Given the description of an element on the screen output the (x, y) to click on. 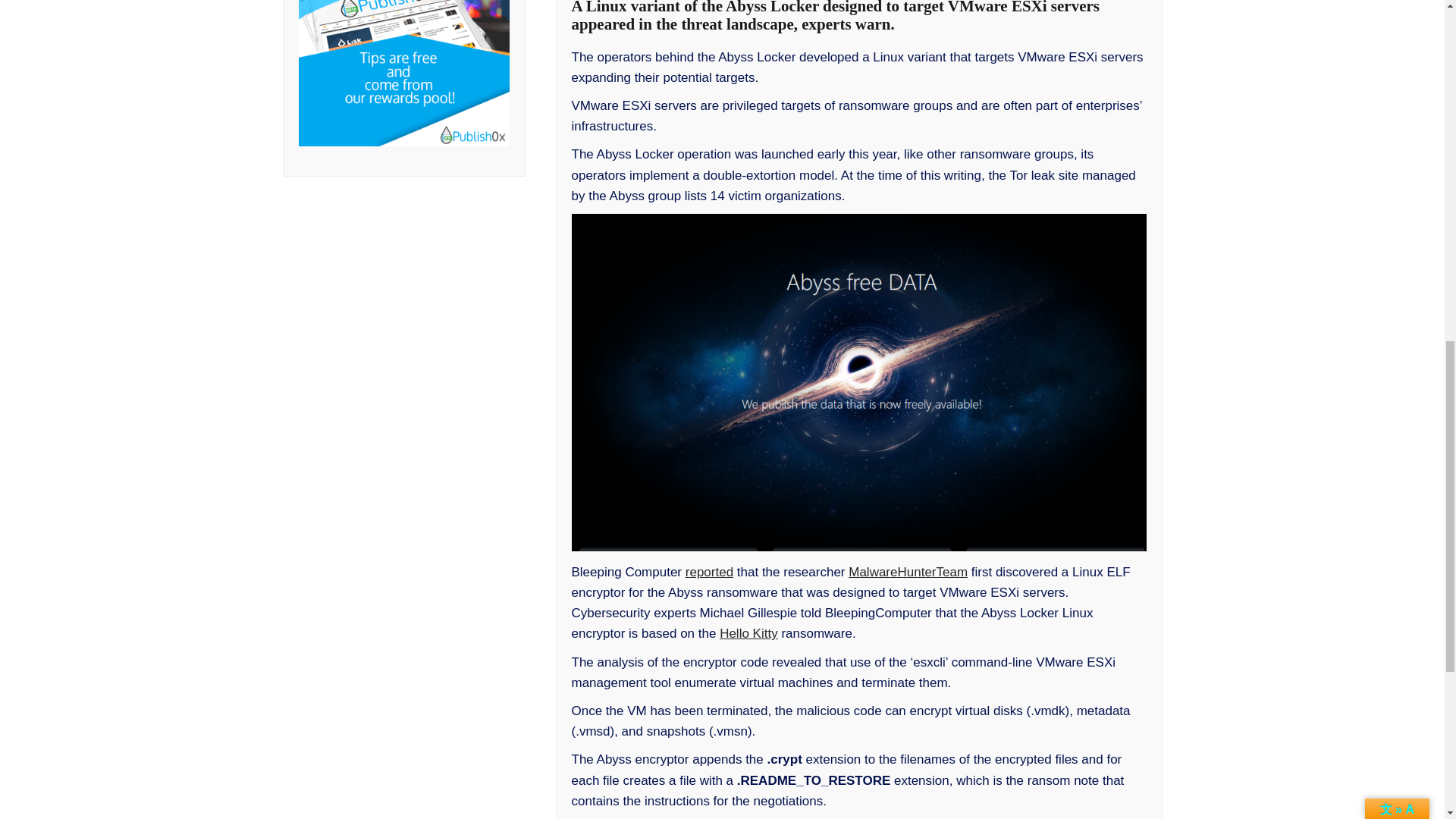
reported (709, 572)
MalwareHunterTeam (908, 572)
Hello Kitty (748, 633)
